Given the description of an element on the screen output the (x, y) to click on. 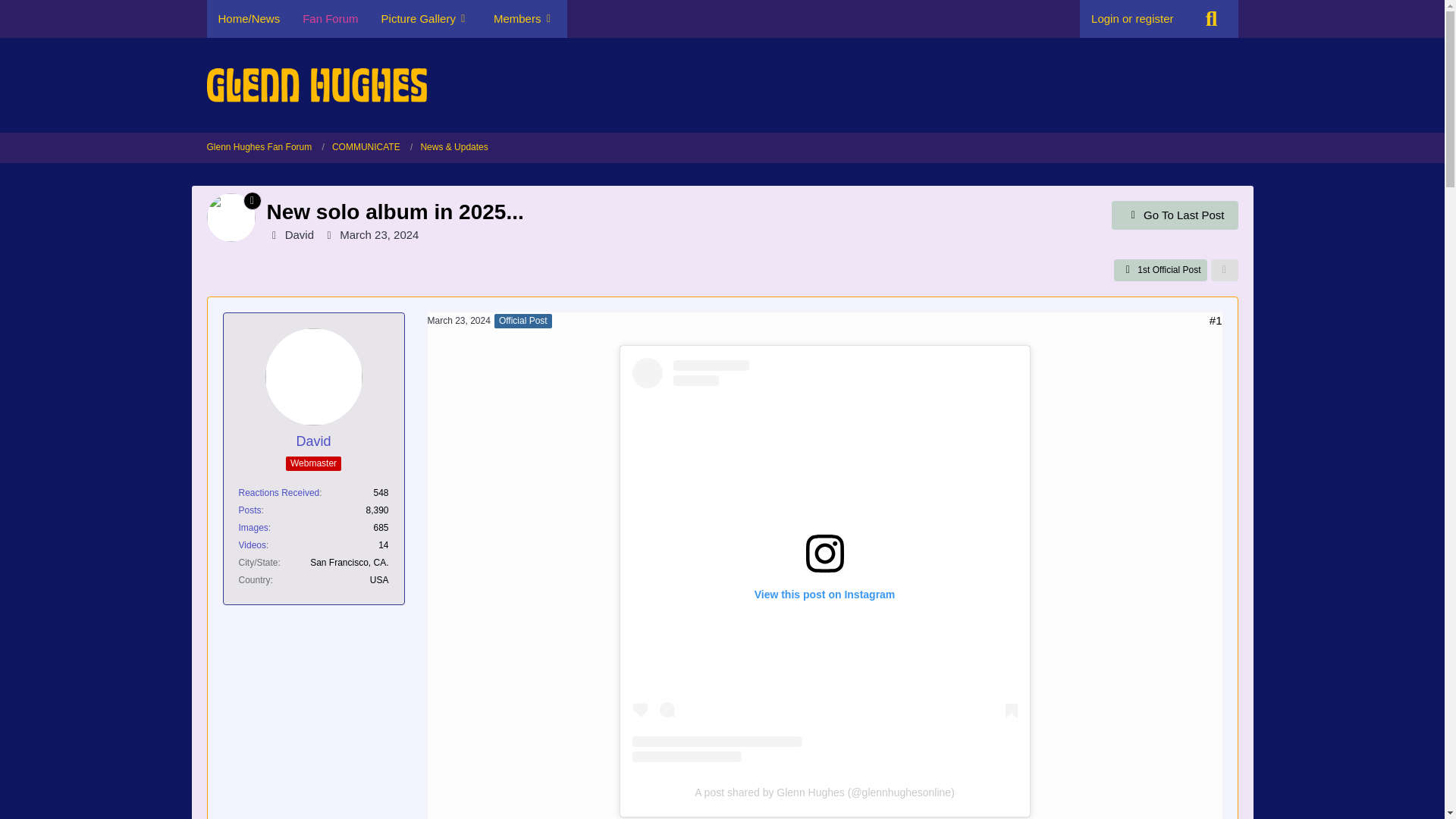
Posts (249, 510)
March 23, 2024March 23, 2024 at 10:21 PM (379, 234)
COMMUNICATE (371, 147)
Login or register (1132, 18)
David (312, 441)
Reactions Received (278, 492)
Fan Forum (330, 18)
March 23, 2024March 23, 2024 at 10:21 PM (459, 320)
Images (252, 527)
